Given the description of an element on the screen output the (x, y) to click on. 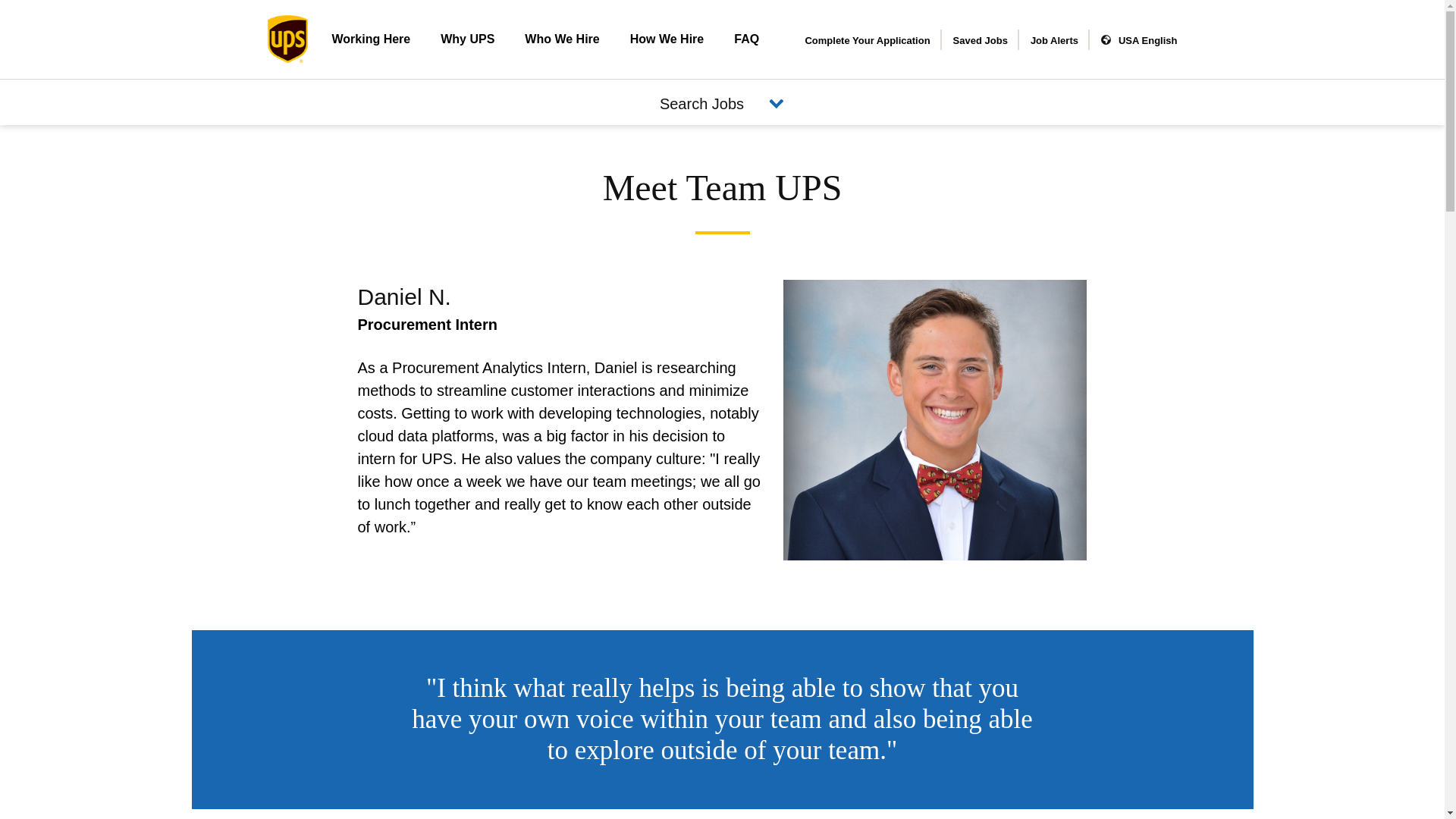
Who We Hire (561, 39)
Working Here (378, 39)
Why UPS (467, 39)
How We Hire (666, 39)
Search Jobs (722, 103)
Complete Your Application (867, 40)
Job Alerts (1054, 40)
Saved Jobs (980, 40)
